Given the description of an element on the screen output the (x, y) to click on. 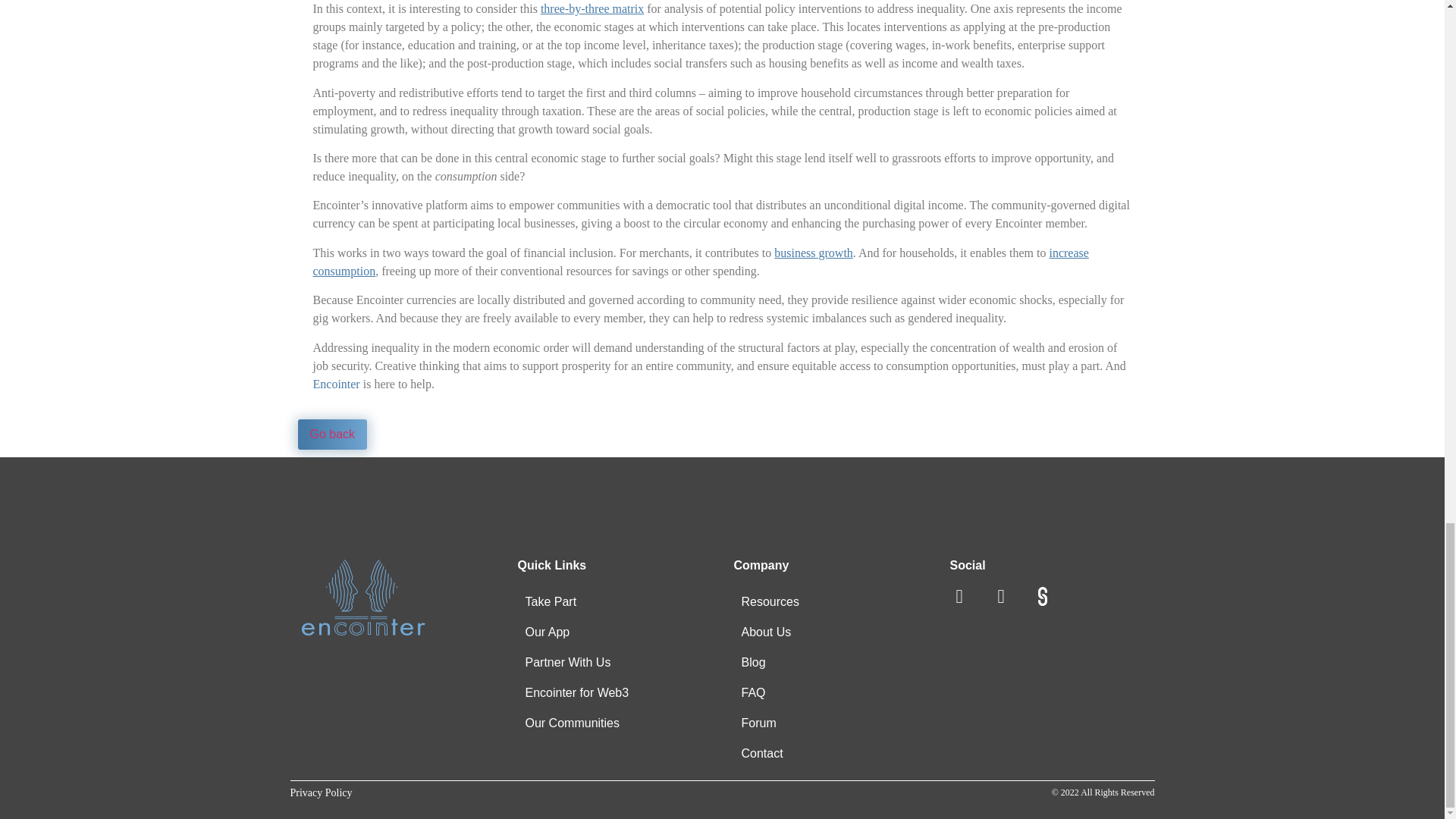
Go back (331, 434)
Our App (546, 632)
Encointer for Web3 (576, 693)
three-by-three matrix (591, 8)
Partner With Us (566, 662)
Encointer (336, 383)
increase consumption (700, 261)
business growth (813, 252)
Take Part (549, 602)
Our Communities (571, 723)
